Given the description of an element on the screen output the (x, y) to click on. 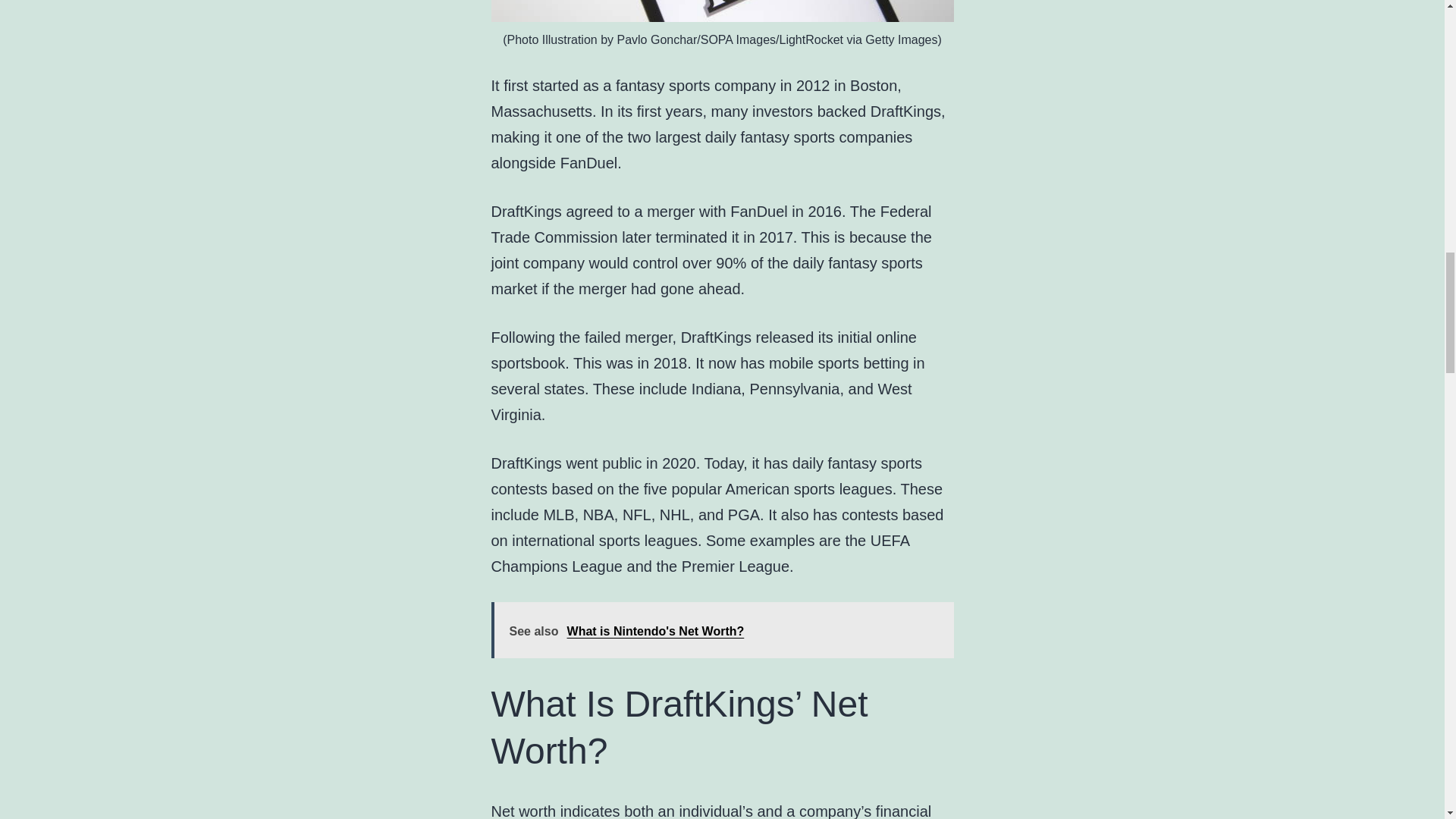
See also  What is Nintendo's Net Worth? (722, 629)
